Given the description of an element on the screen output the (x, y) to click on. 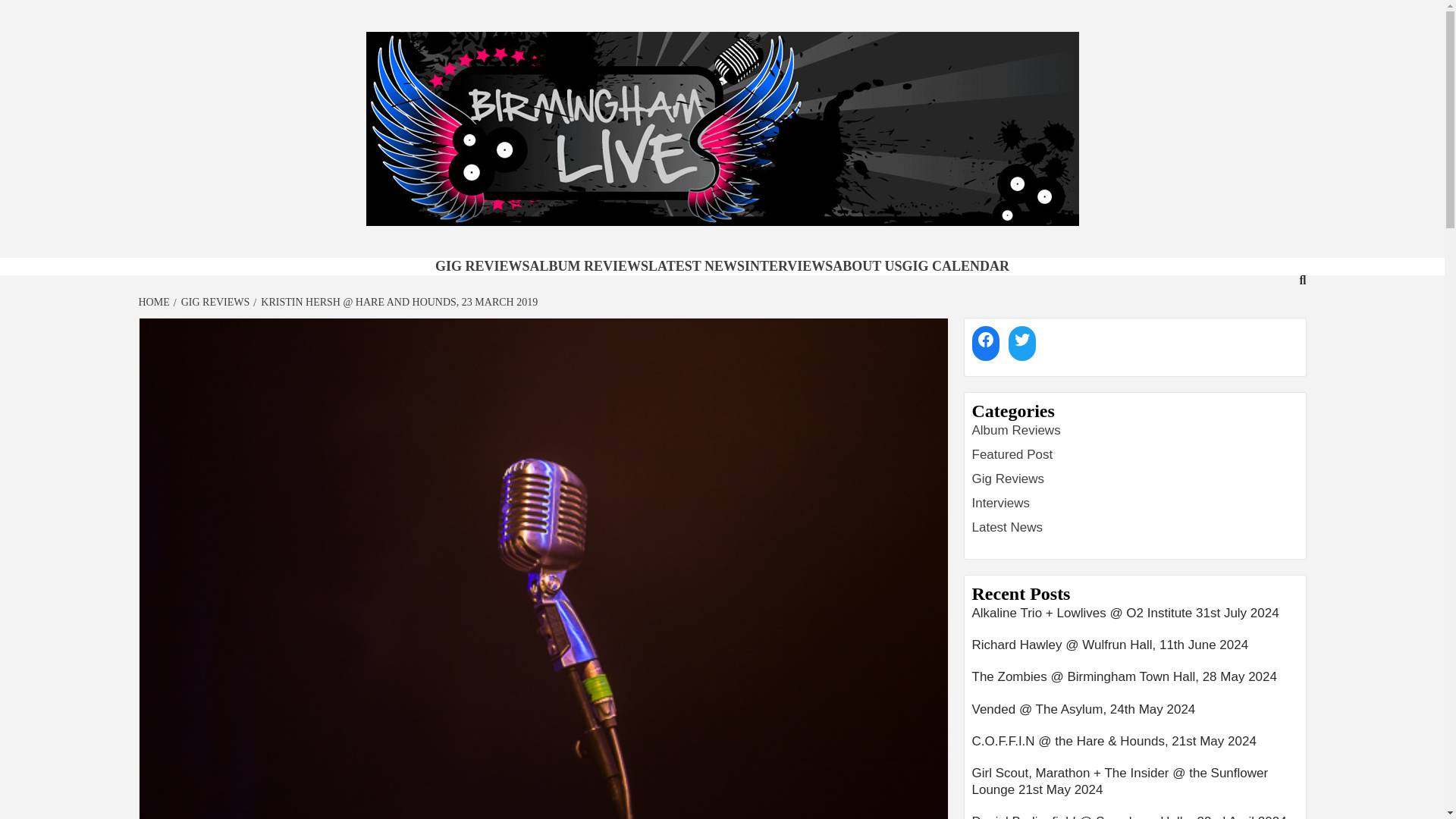
Latest News (1007, 527)
GIG REVIEWS (482, 265)
Album Reviews (1016, 430)
INTERVIEWS (788, 265)
ABOUT US (866, 265)
Facebook (985, 338)
GIG REVIEWS (213, 301)
Featured Post (1012, 454)
GIG CALENDAR (956, 265)
Twitter (1022, 338)
